Given the description of an element on the screen output the (x, y) to click on. 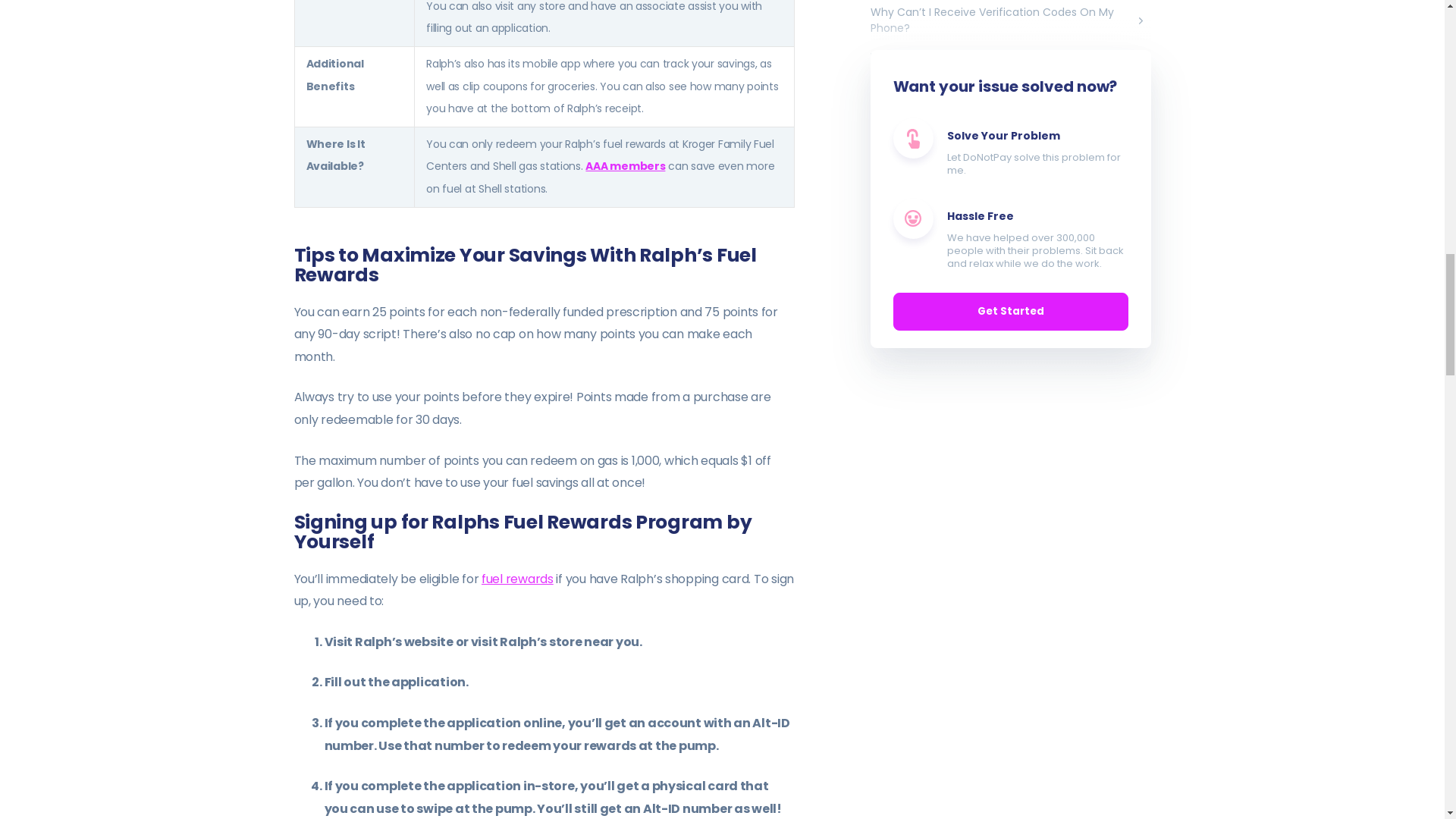
AAA members (625, 165)
fuel rewards (517, 579)
